Given the description of an element on the screen output the (x, y) to click on. 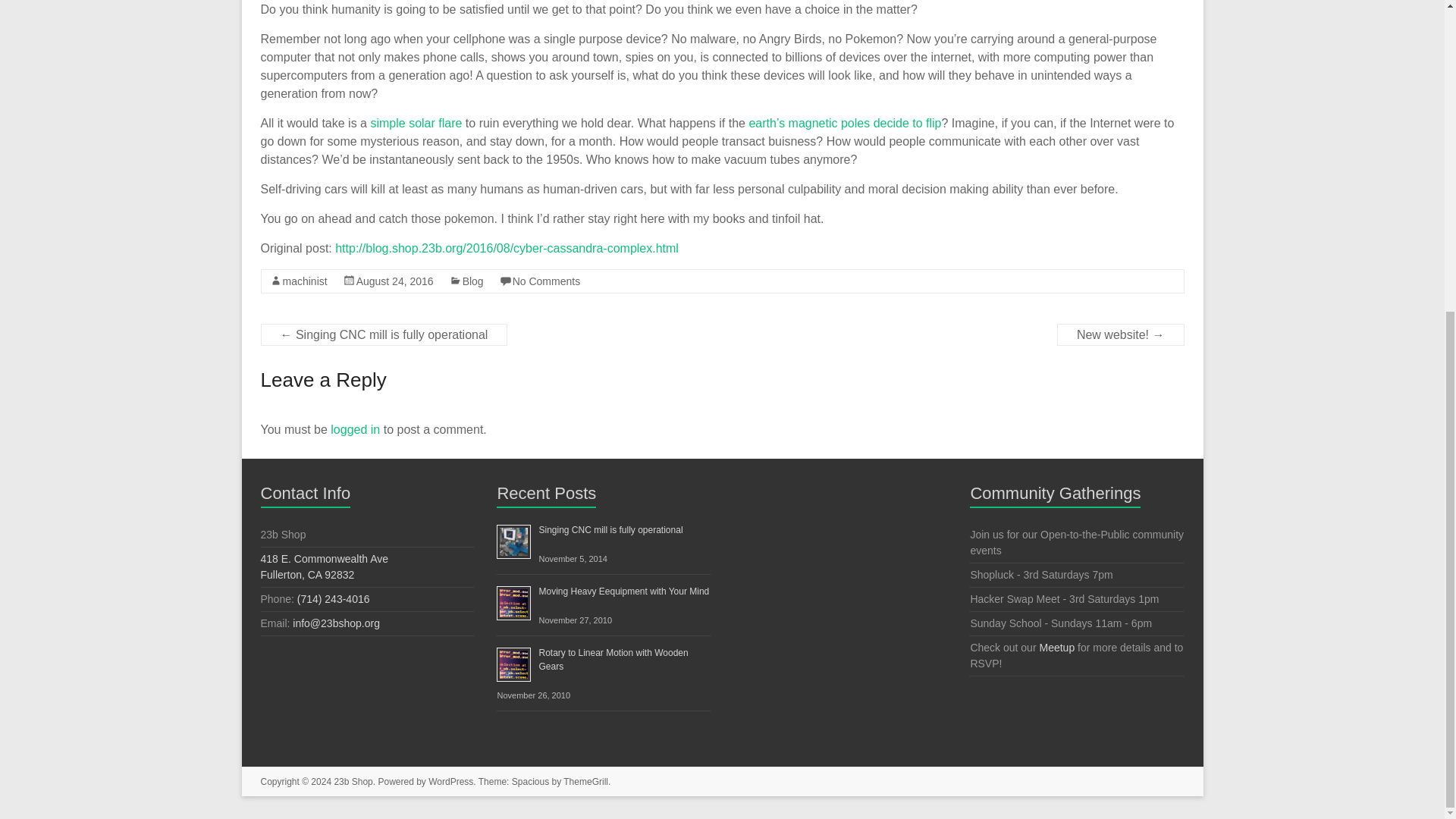
23b Shop (352, 781)
logged in (355, 429)
August 24, 2016 (394, 281)
Singing CNC mill is fully operational (324, 566)
Rotary to Linear Motion with Wooden Gears (610, 529)
Blog (612, 659)
No Comments (473, 281)
Moving Heavy Eequipment with Your Mind (545, 281)
WordPress (623, 591)
10:15 pm (450, 781)
ThemeGrill (394, 281)
simple solar flare (585, 781)
machinist (415, 123)
Meetup (304, 281)
